Given the description of an element on the screen output the (x, y) to click on. 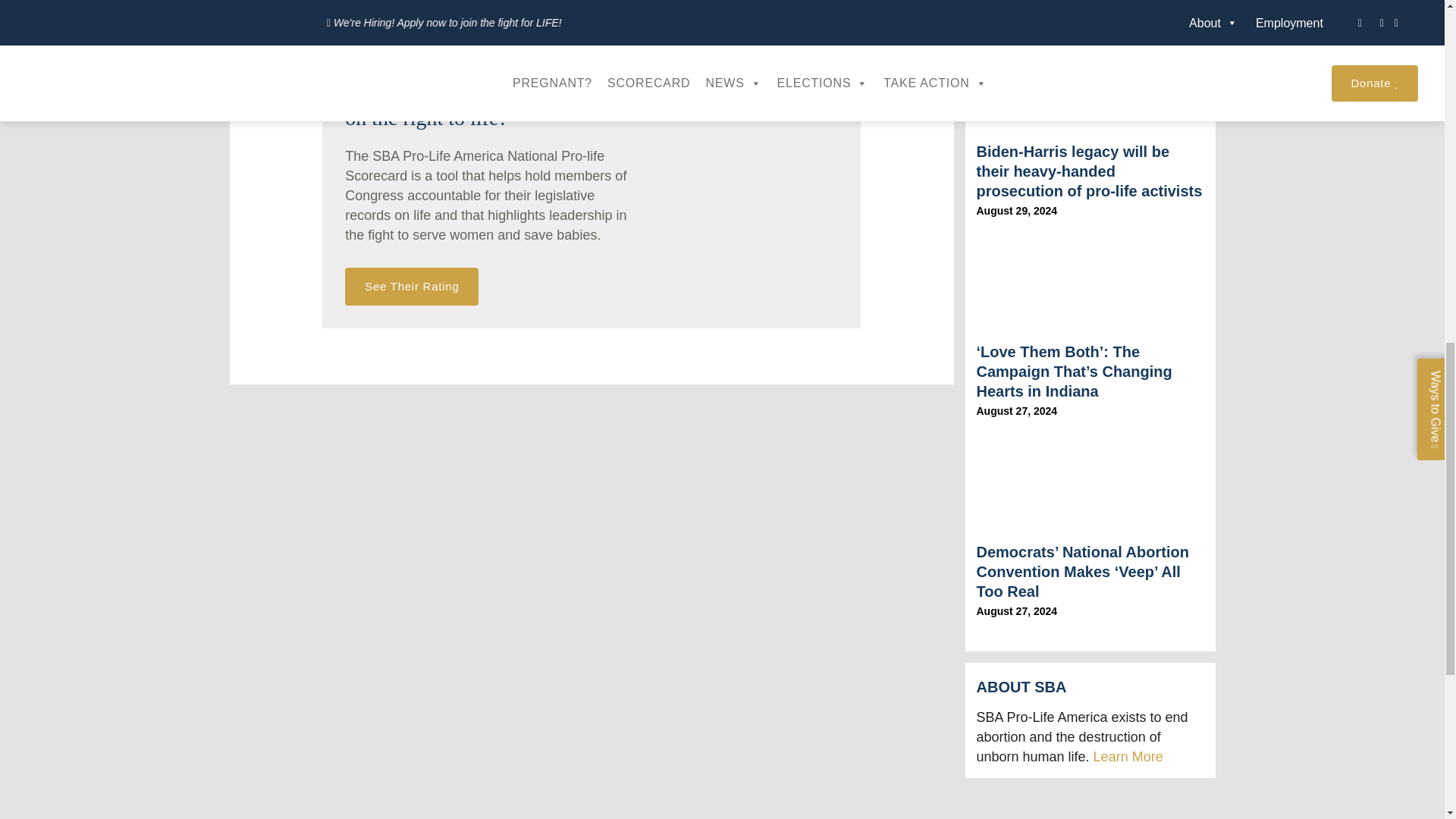
Share on Facebook (298, 9)
Share on X (392, 9)
Send over email (473, 9)
